Given the description of an element on the screen output the (x, y) to click on. 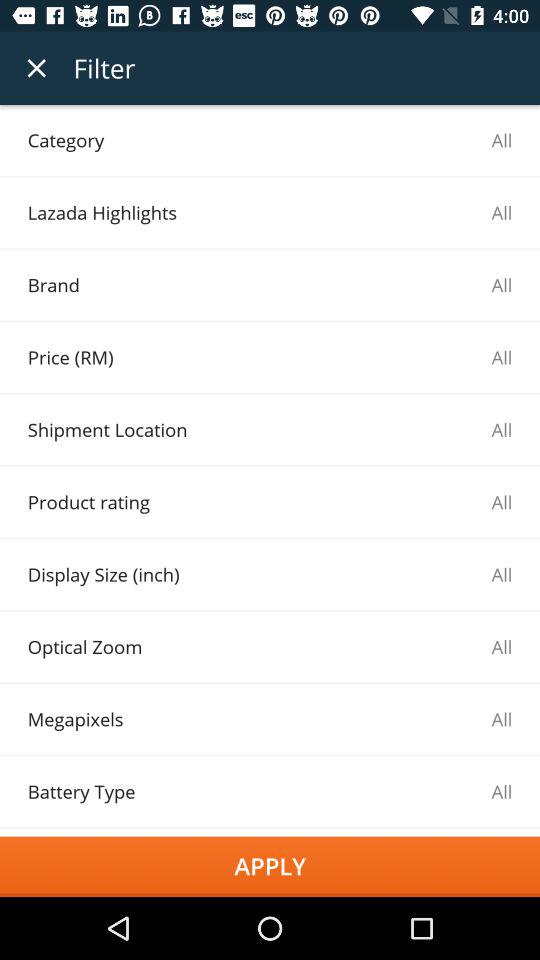
press the icon next to filter (36, 68)
